Given the description of an element on the screen output the (x, y) to click on. 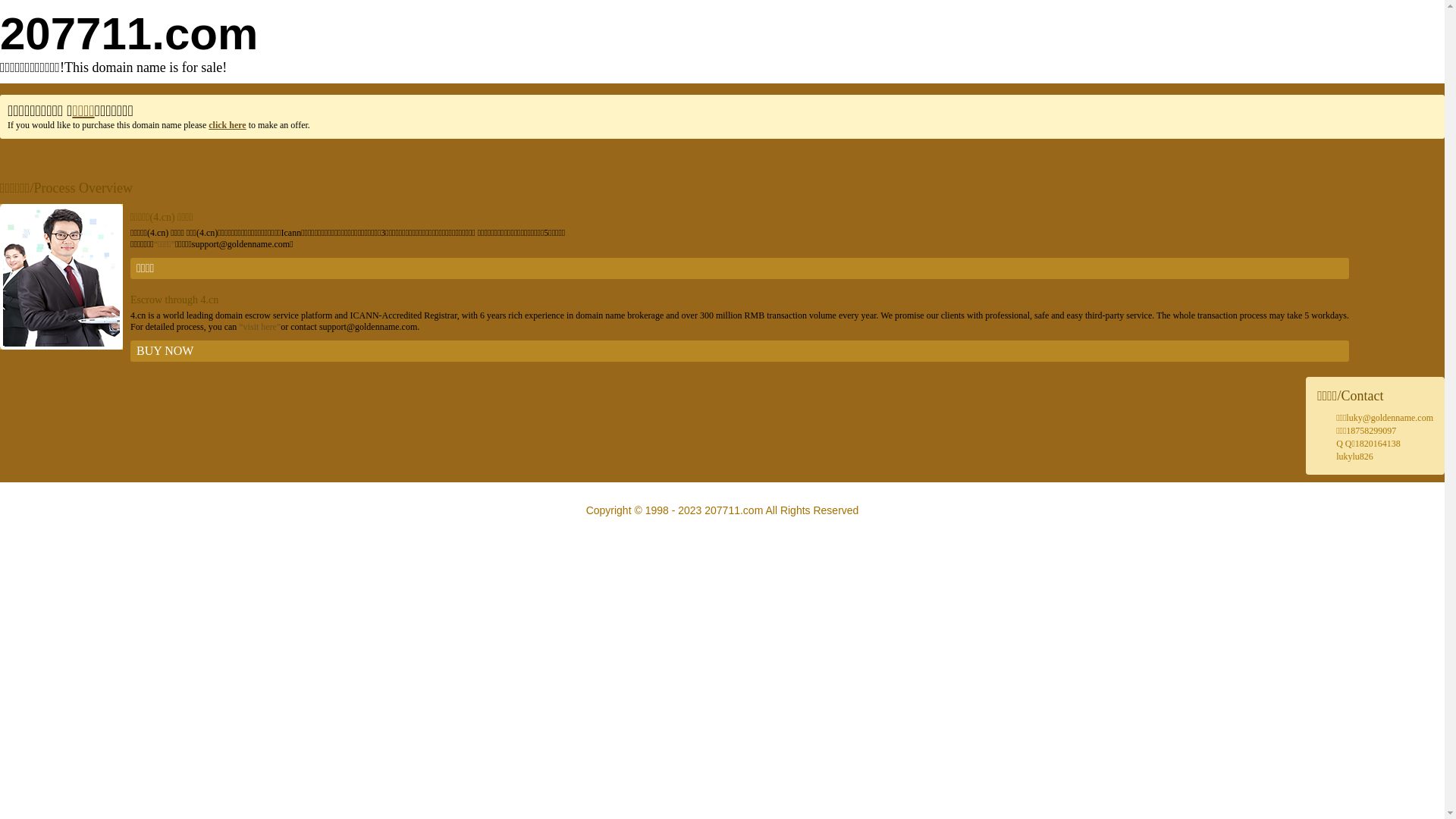
BUY NOW Element type: text (739, 350)
click here Element type: text (226, 124)
